Given the description of an element on the screen output the (x, y) to click on. 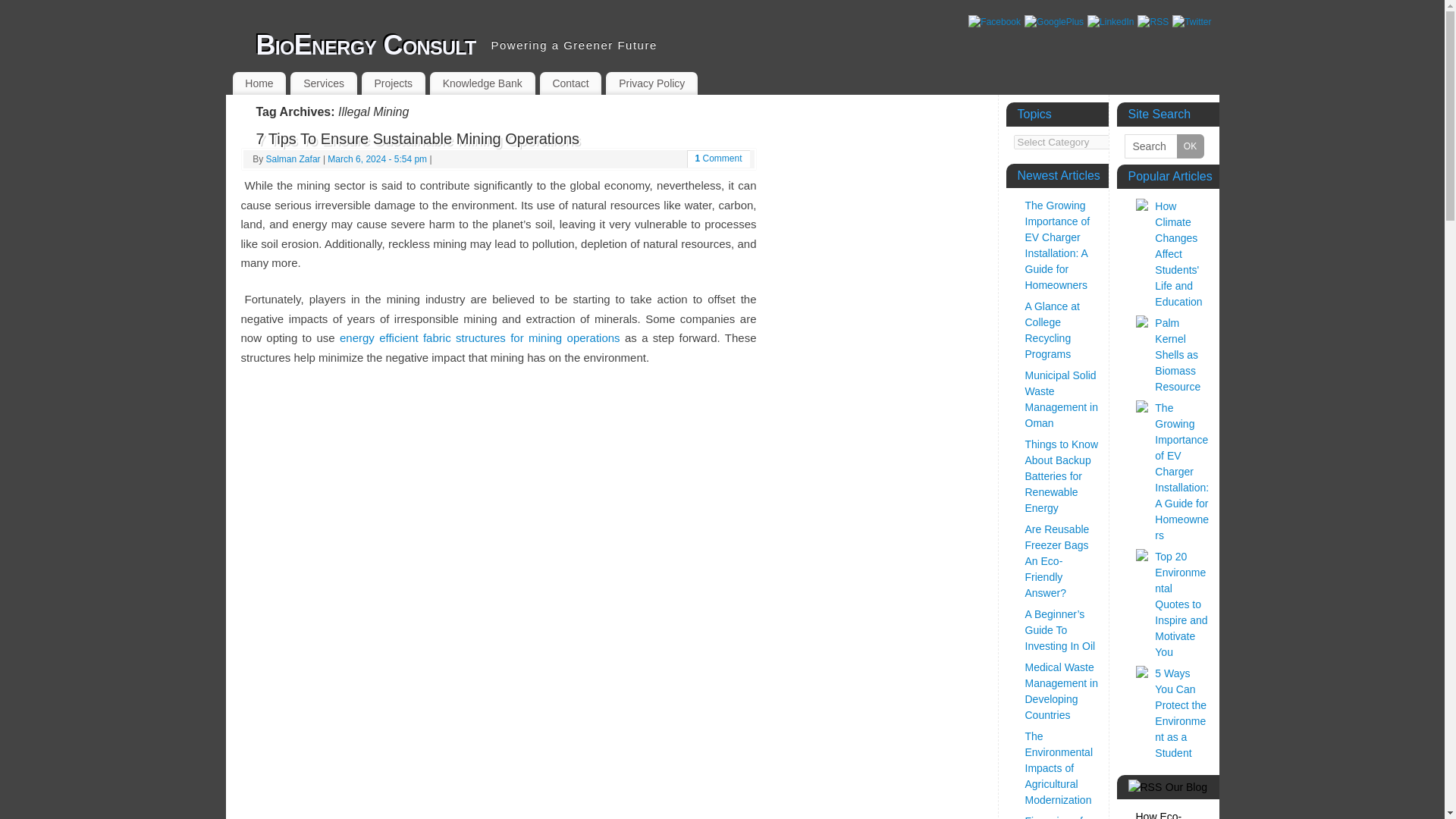
7 Tips To Ensure Sustainable Mining Operations (417, 138)
View all posts by Salman Zafar (293, 158)
Search (1164, 146)
Facebook (994, 21)
Contact (571, 83)
5:54 pm (376, 158)
Permalink to 7 Tips To Ensure Sustainable Mining Operations (417, 138)
Home (258, 83)
OK (1190, 146)
LinkedIn (1110, 21)
BioEnergy Consult (366, 44)
OK (1190, 146)
Projects (393, 83)
Salman Zafar (293, 158)
Services (322, 83)
